Given the description of an element on the screen output the (x, y) to click on. 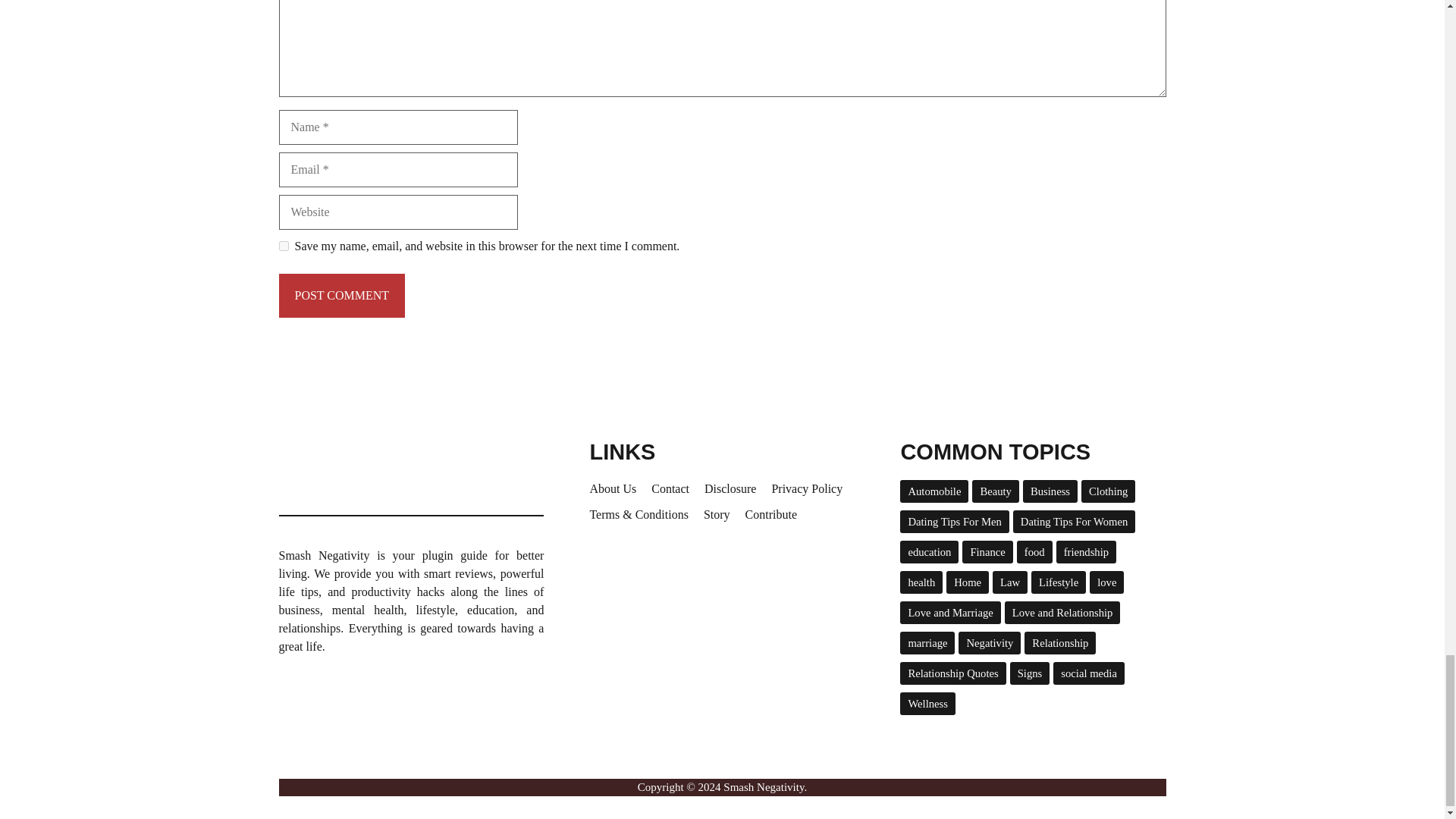
Privacy Policy (807, 488)
yes (283, 245)
Contact (669, 488)
About Us (612, 488)
Disclosure (729, 488)
Post Comment (342, 295)
Post Comment (342, 295)
